Given the description of an element on the screen output the (x, y) to click on. 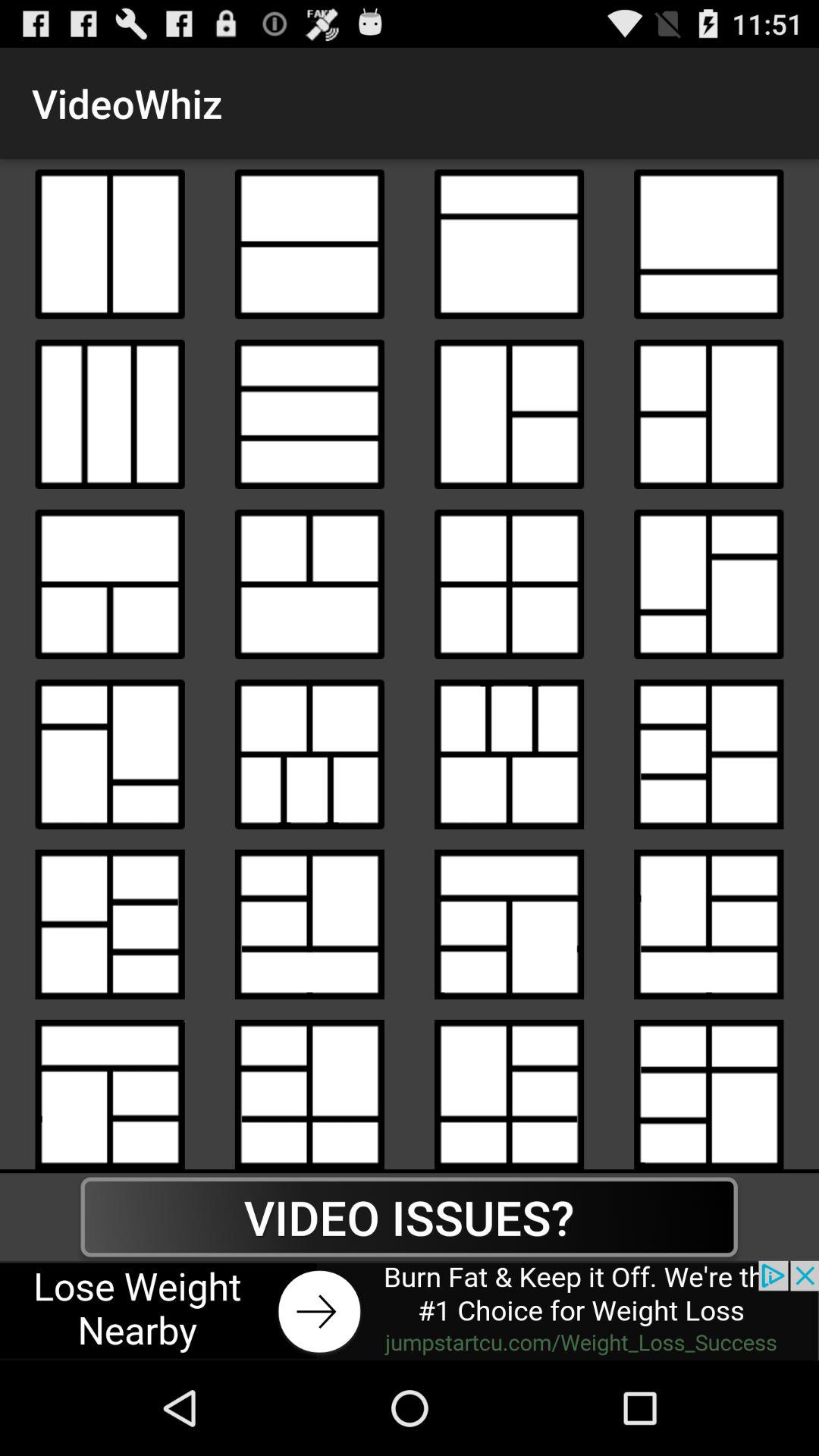
select videowhiz option (109, 1089)
